Given the description of an element on the screen output the (x, y) to click on. 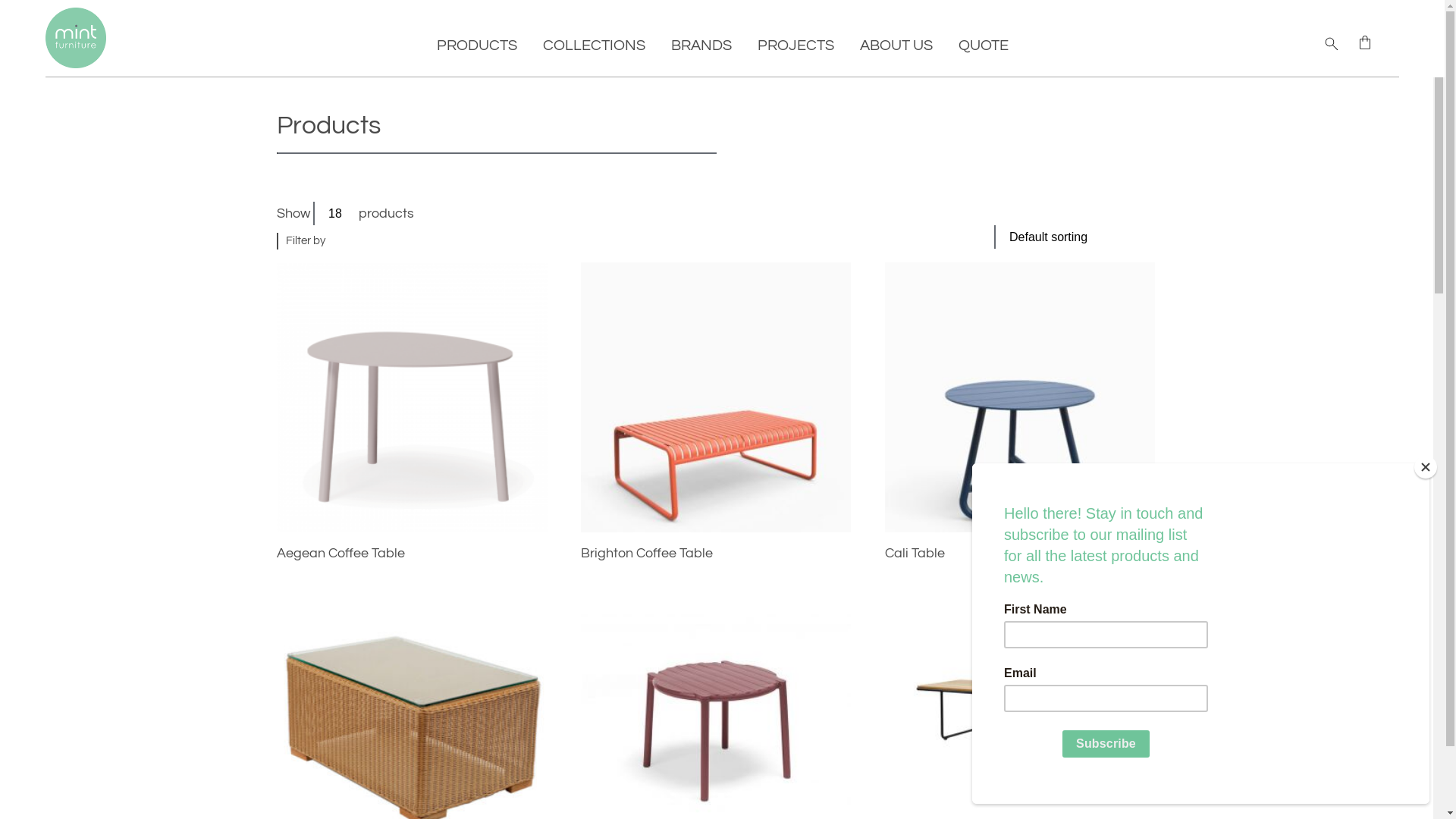
PROJECTS Element type: text (794, 45)
Search Element type: text (11, 11)
ABOUT US Element type: text (895, 45)
Quote Element type: text (1364, 42)
Aegean Coffee Table Element type: text (411, 553)
Brighton Coffee Table Element type: text (715, 553)
PRODUCTS Element type: text (476, 45)
Filter by Element type: text (304, 240)
QUOTE Element type: text (983, 45)
COLLECTIONS Element type: text (593, 45)
BRANDS Element type: text (700, 45)
Cali Table Element type: text (1019, 553)
